Given the description of an element on the screen output the (x, y) to click on. 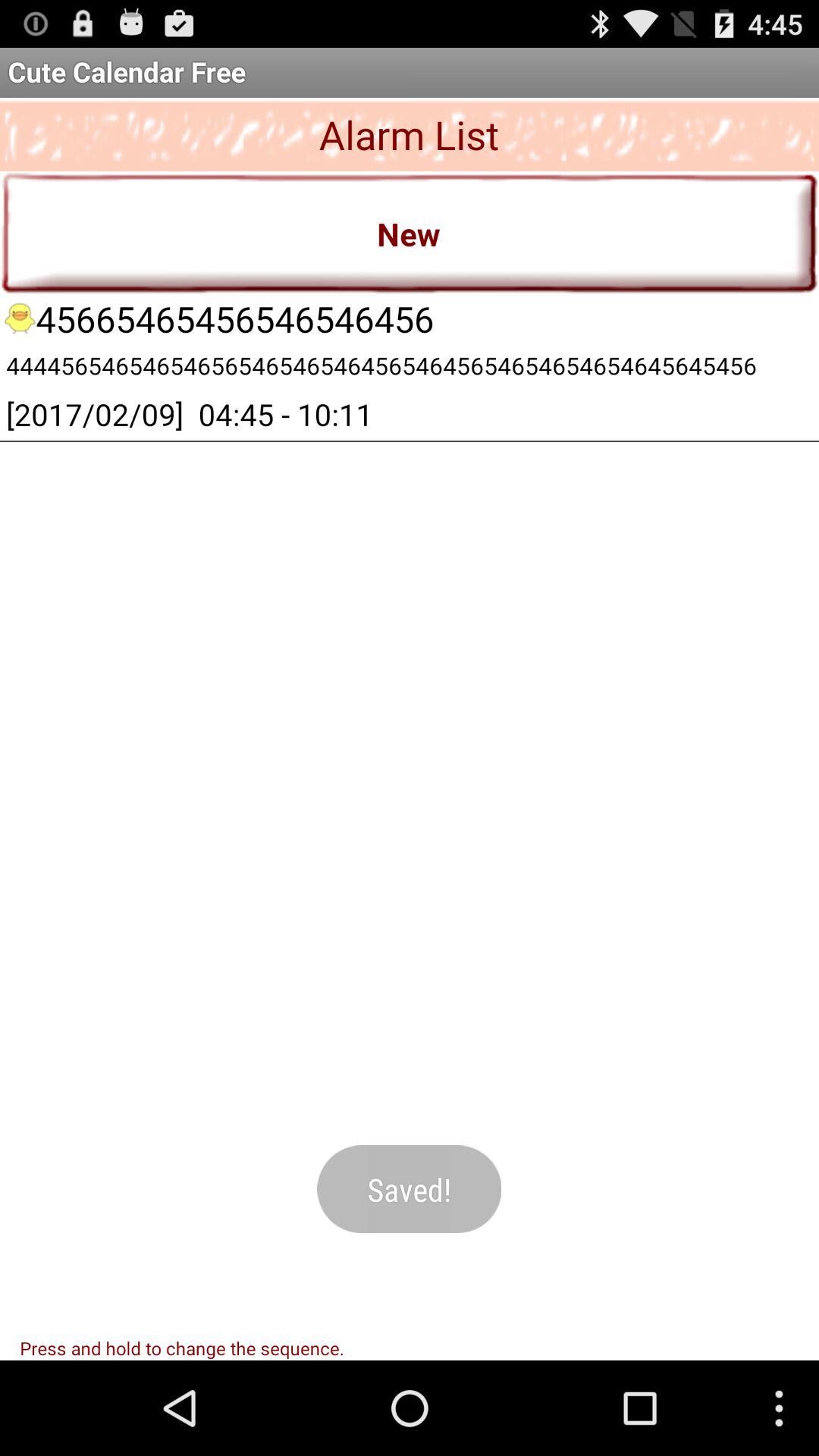
click the icon above the 45665465456546546456 icon (409, 232)
